Given the description of an element on the screen output the (x, y) to click on. 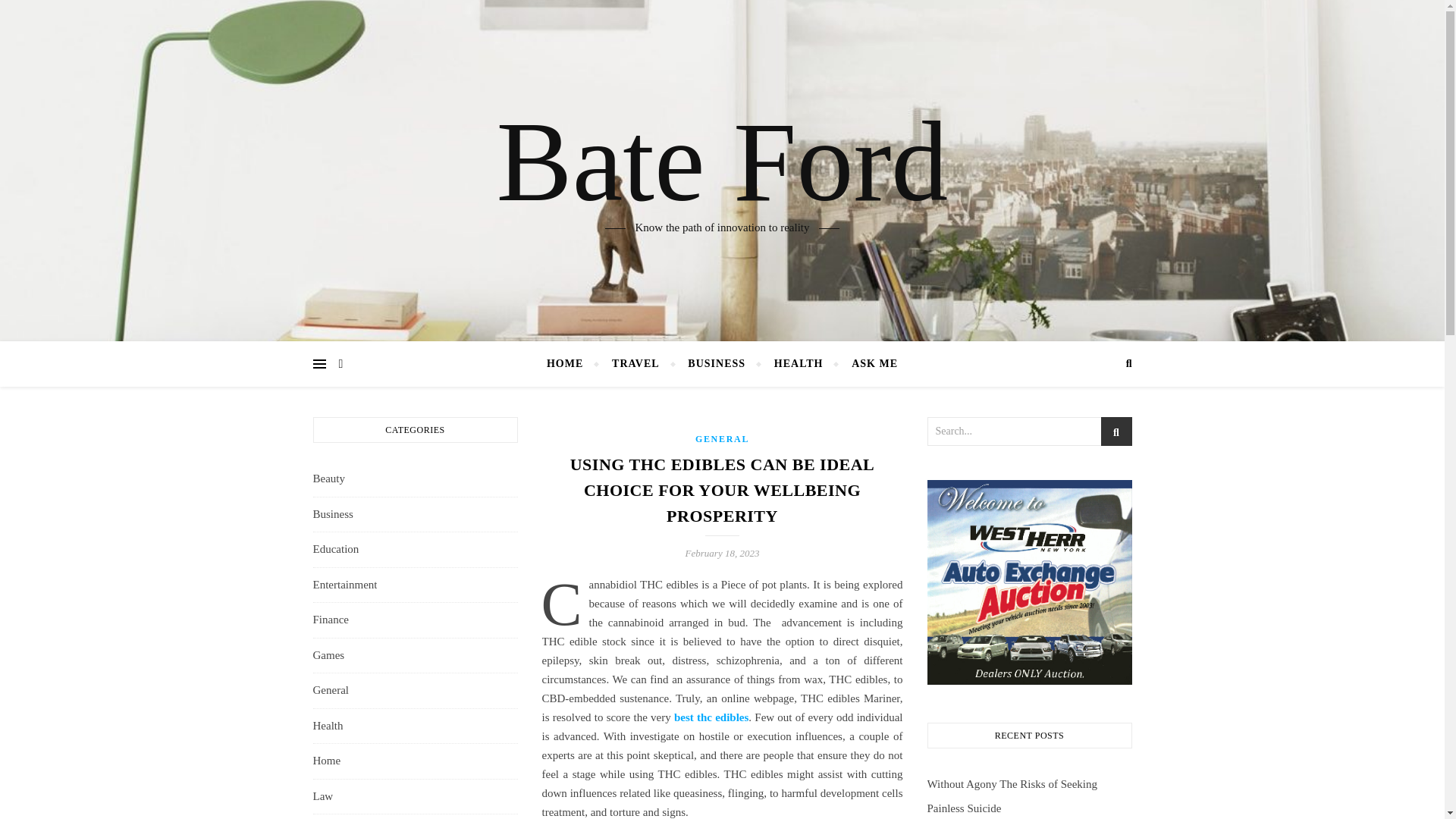
HOME (571, 363)
ASK ME (868, 363)
BUSINESS (716, 363)
HEALTH (798, 363)
TRAVEL (635, 363)
